Given the description of an element on the screen output the (x, y) to click on. 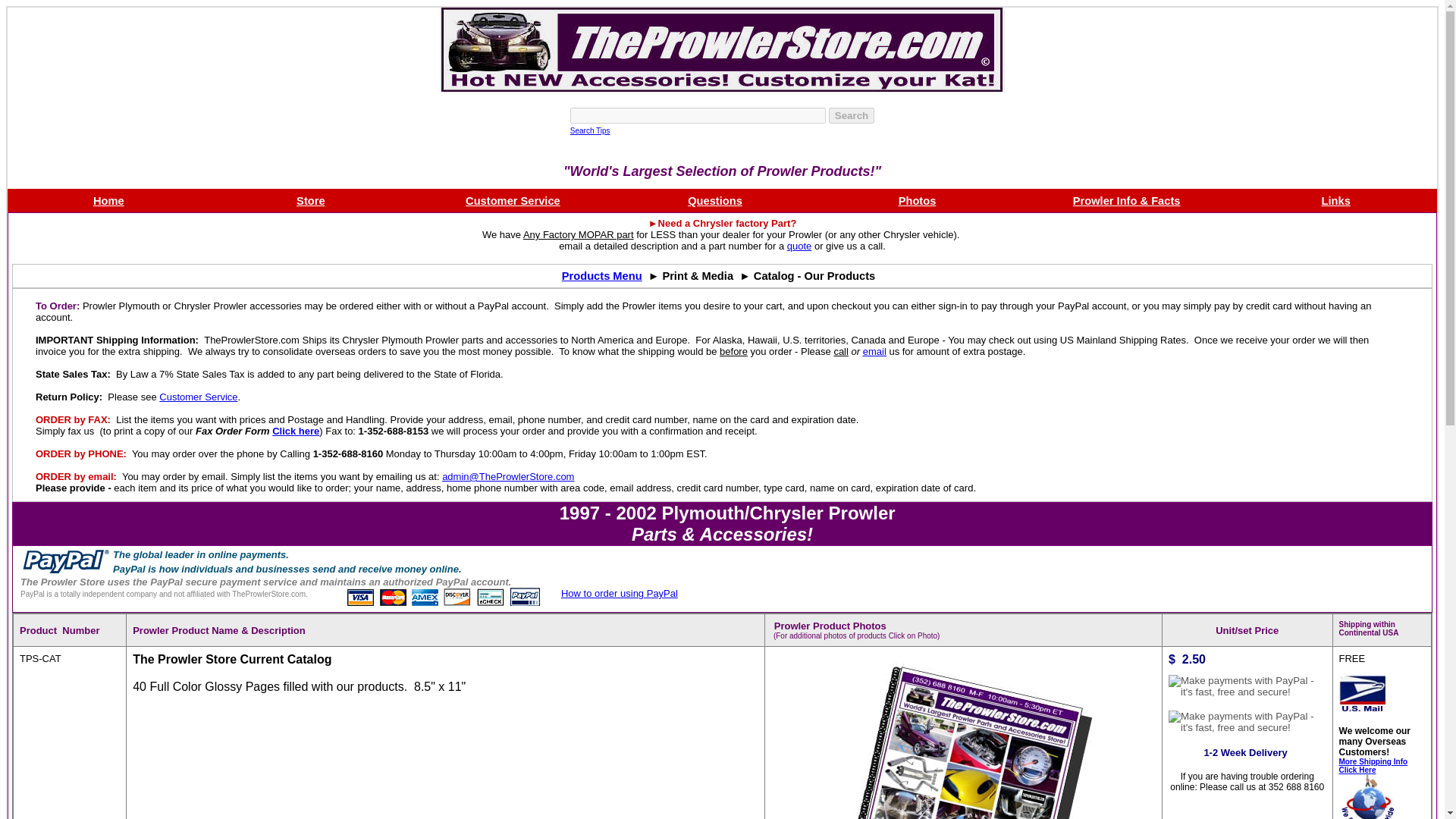
Click Here (1357, 769)
Home (108, 200)
Customer Service (197, 396)
More Shipping Info (1373, 761)
Search (851, 115)
Customer Service (512, 200)
email (874, 351)
Products Menu (602, 275)
Click here (295, 430)
Photos (917, 200)
Store (310, 200)
Links (1336, 200)
Questions (714, 200)
quote (799, 245)
Search (851, 115)
